Given the description of an element on the screen output the (x, y) to click on. 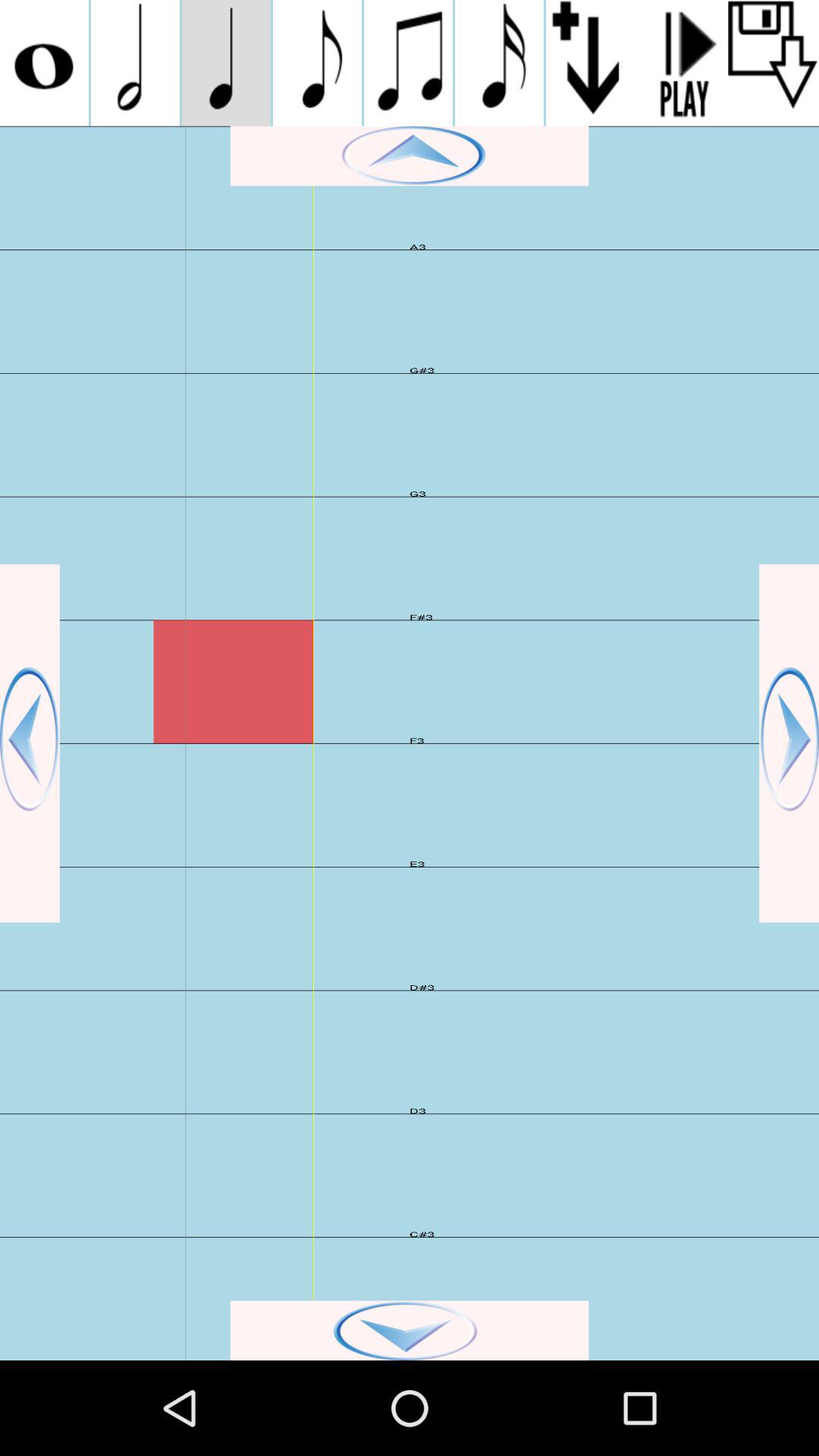
play eighth note (317, 63)
